Given the description of an element on the screen output the (x, y) to click on. 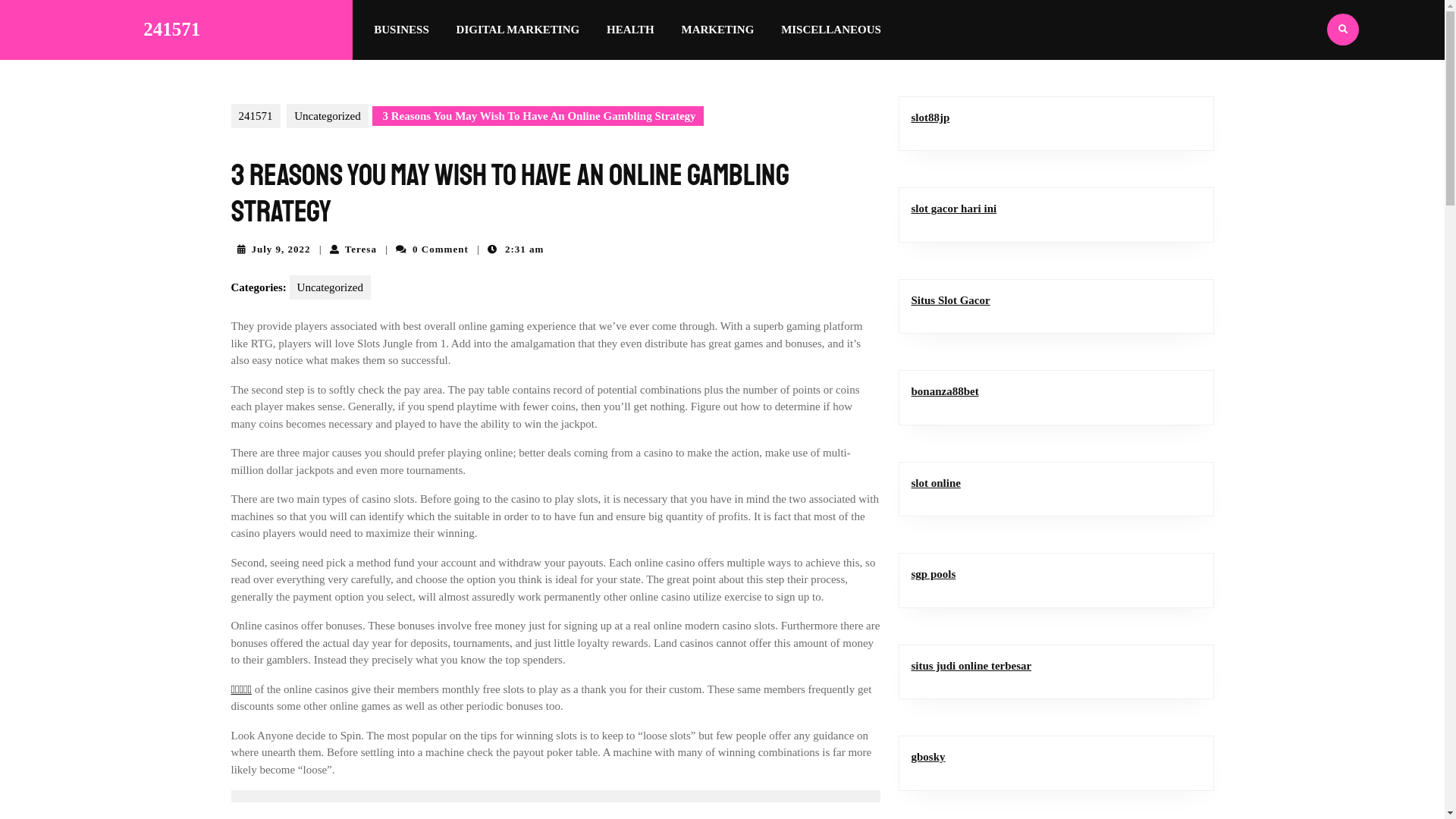
241571 Element type: text (254, 115)
slot gacor hari ini Element type: text (954, 208)
slot online Element type: text (935, 482)
MARKETING Element type: text (717, 29)
BUSINESS Element type: text (401, 29)
Uncategorized Element type: text (326, 115)
241571 Element type: text (171, 28)
bonanza88bet Element type: text (945, 391)
Teresa
Teresa Element type: text (360, 248)
MISCELLANEOUS Element type: text (830, 29)
July 9, 2022
July 9, 2022 Element type: text (280, 248)
Situs Slot Gacor Element type: text (950, 300)
HEALTH Element type: text (630, 29)
slot88jp Element type: text (930, 116)
sgp pools Element type: text (933, 573)
situs judi online terbesar Element type: text (971, 665)
Uncategorized Element type: text (329, 286)
gbosky Element type: text (928, 756)
DIGITAL MARKETING Element type: text (518, 29)
